Given the description of an element on the screen output the (x, y) to click on. 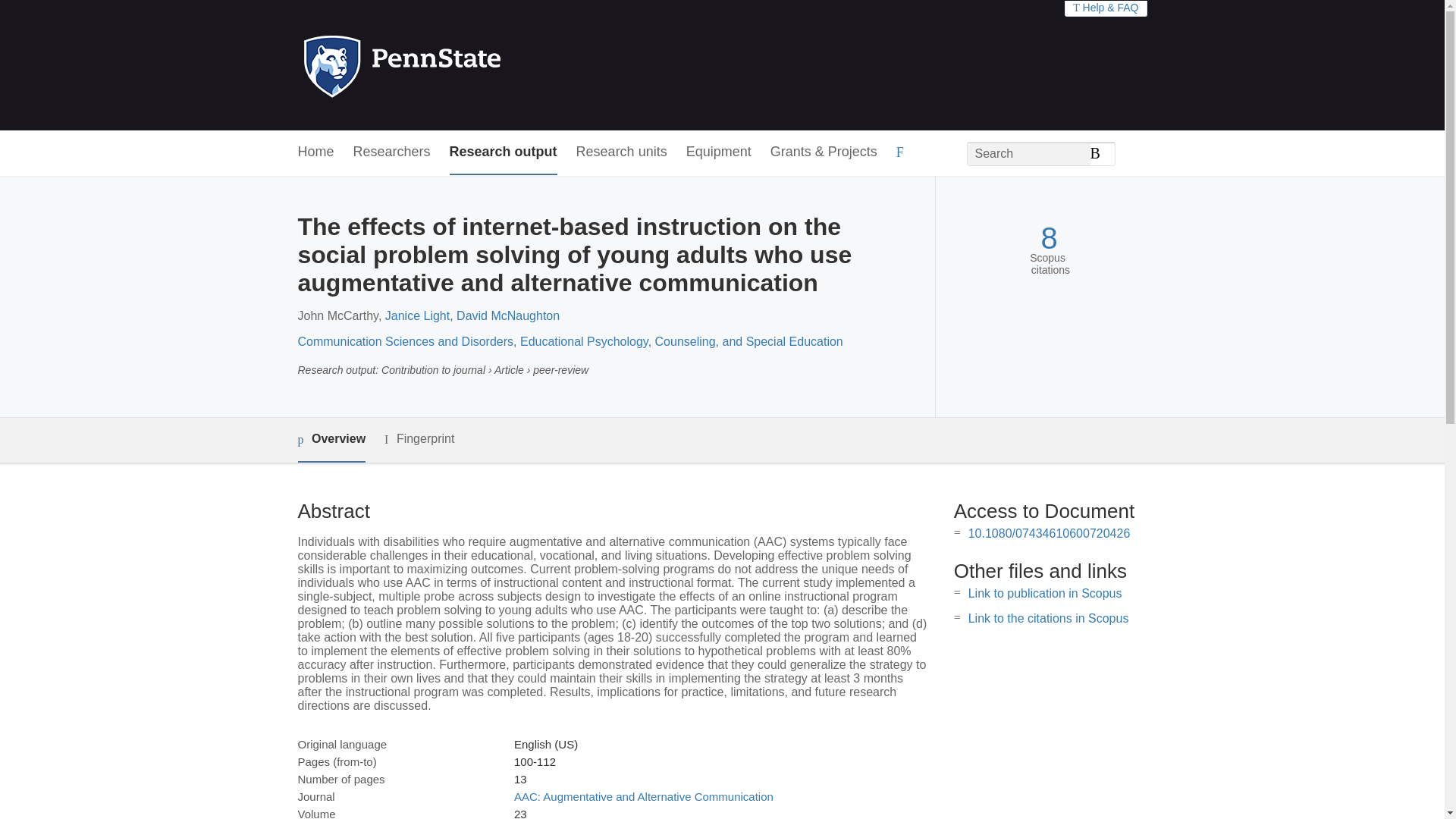
Research output (503, 152)
Overview (331, 439)
Penn State Home (467, 65)
AAC: Augmentative and Alternative Communication (643, 796)
Fingerprint (419, 439)
Link to the citations in Scopus (1048, 617)
Equipment (718, 152)
Janice Light (417, 315)
Researchers (391, 152)
Educational Psychology, Counseling, and Special Education (681, 341)
Link to publication in Scopus (1045, 593)
David McNaughton (508, 315)
Research units (621, 152)
Communication Sciences and Disorders (405, 341)
